Given the description of an element on the screen output the (x, y) to click on. 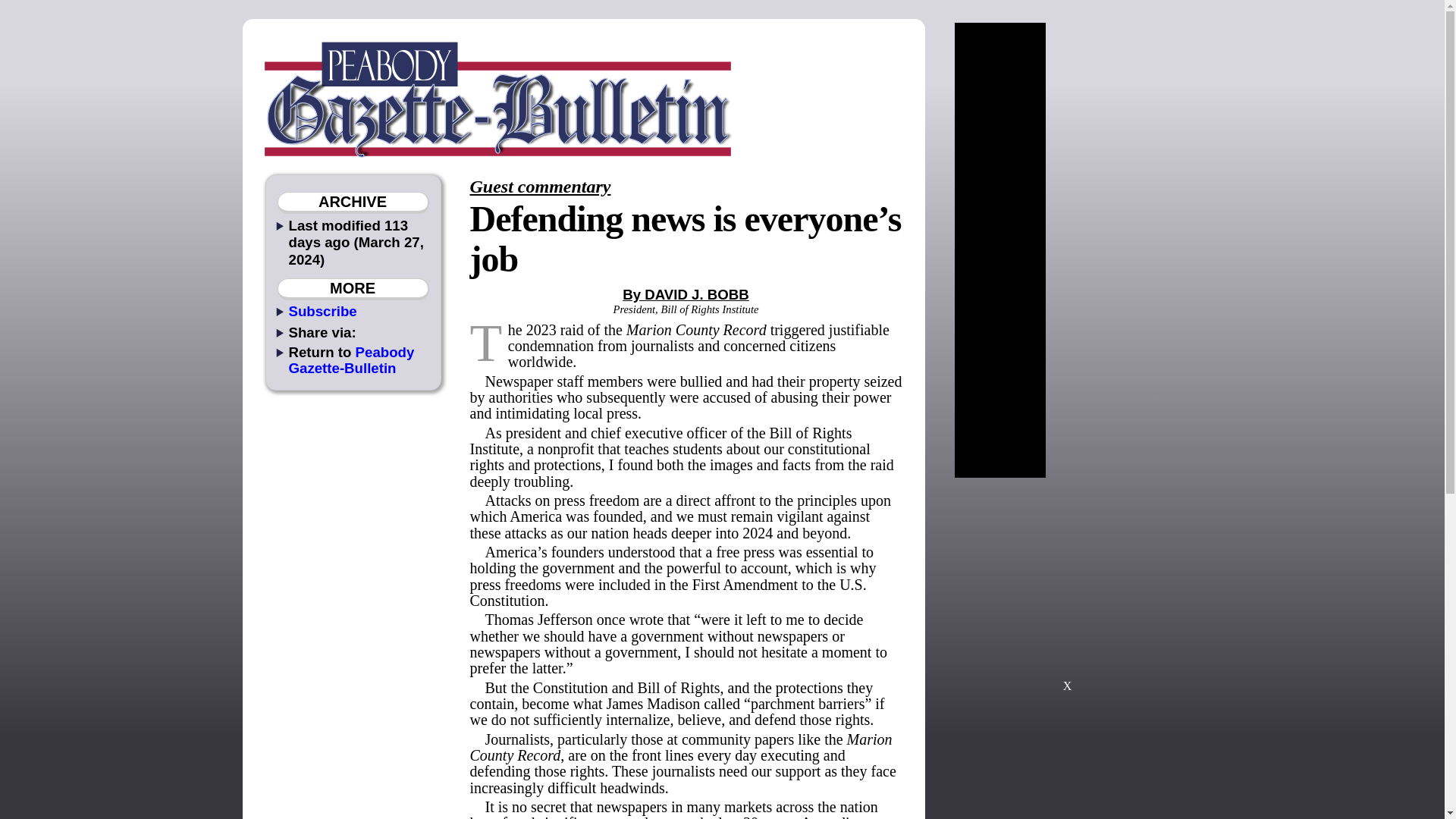
Advertisement (1067, 591)
Subscribe (322, 311)
Peabody Gazette-Bulletin (350, 359)
